Given the description of an element on the screen output the (x, y) to click on. 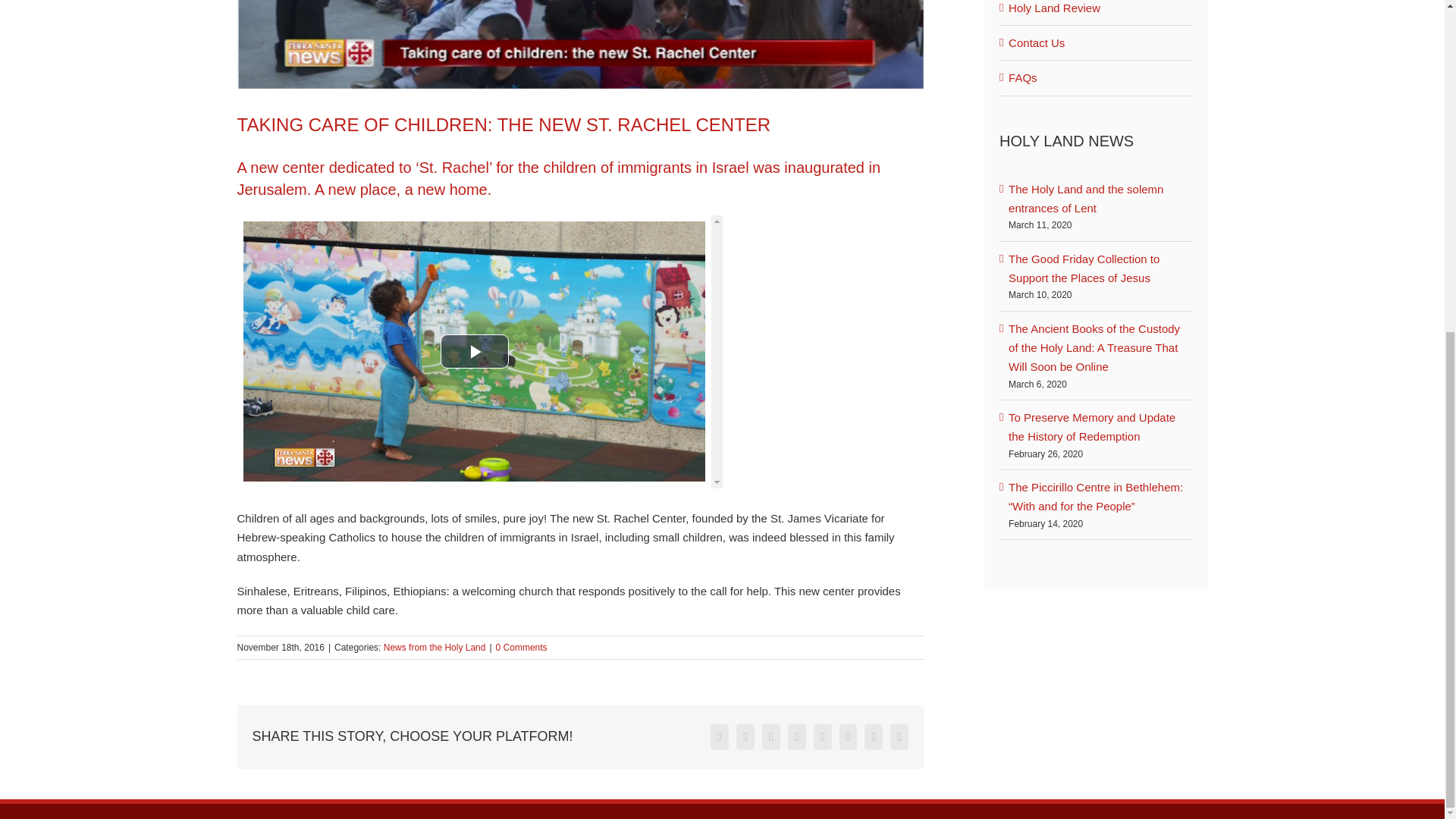
Twitter (745, 736)
Facebook (719, 736)
0 Comments (521, 647)
LinkedIn (770, 736)
View Larger Image (579, 45)
News from the Holy Land (435, 647)
Reddit (796, 736)
